Given the description of an element on the screen output the (x, y) to click on. 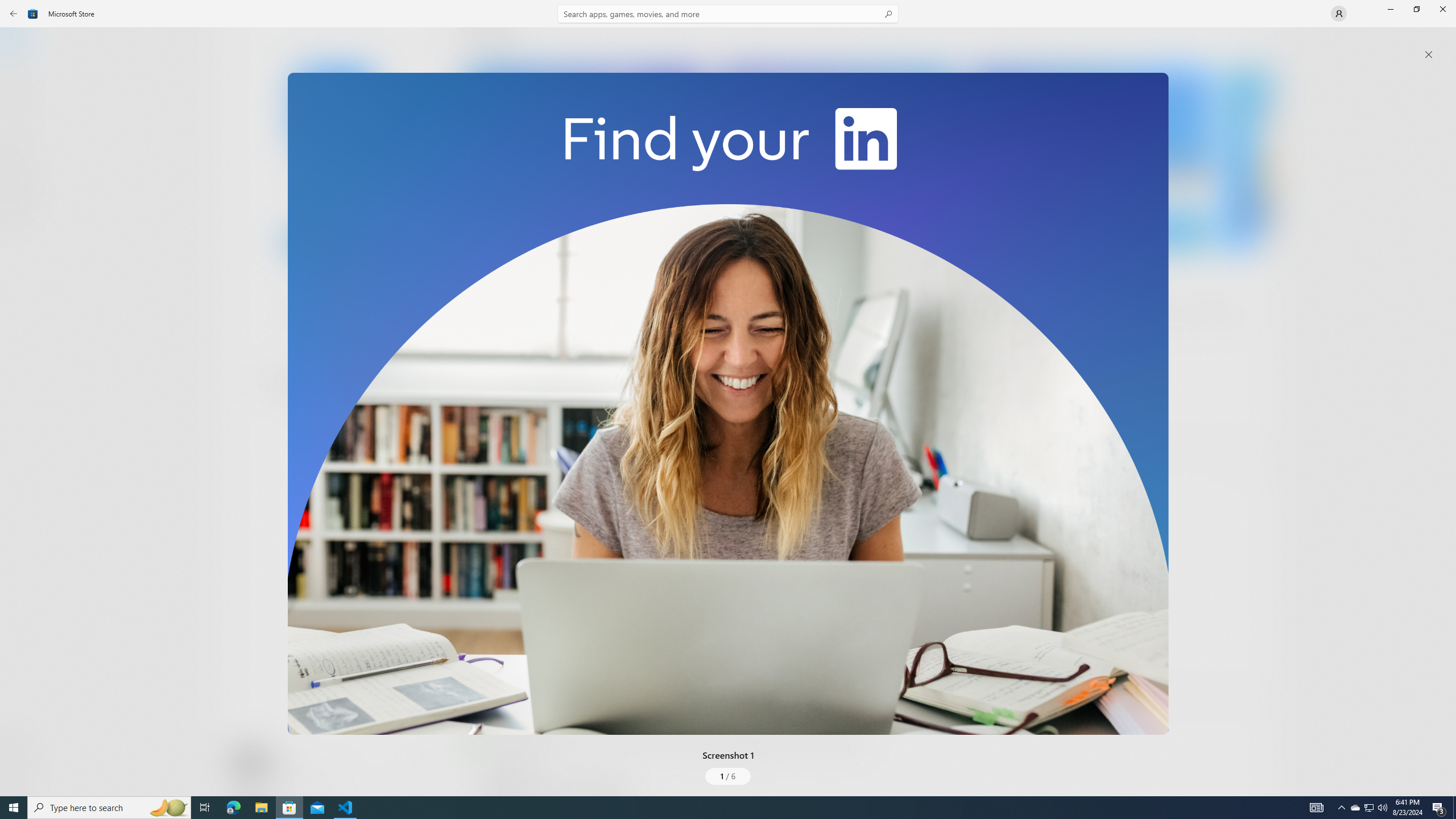
AutomationID: NavigationControl (728, 398)
LinkedIn (332, 189)
Age rating: TEEN. Click for more information. (276, 762)
Social (329, 423)
Get (334, 241)
Screenshot 4 (1247, 158)
Screenshot 3 (1089, 158)
Show all ratings and reviews (1253, 465)
close popup window (1428, 54)
